Given the description of an element on the screen output the (x, y) to click on. 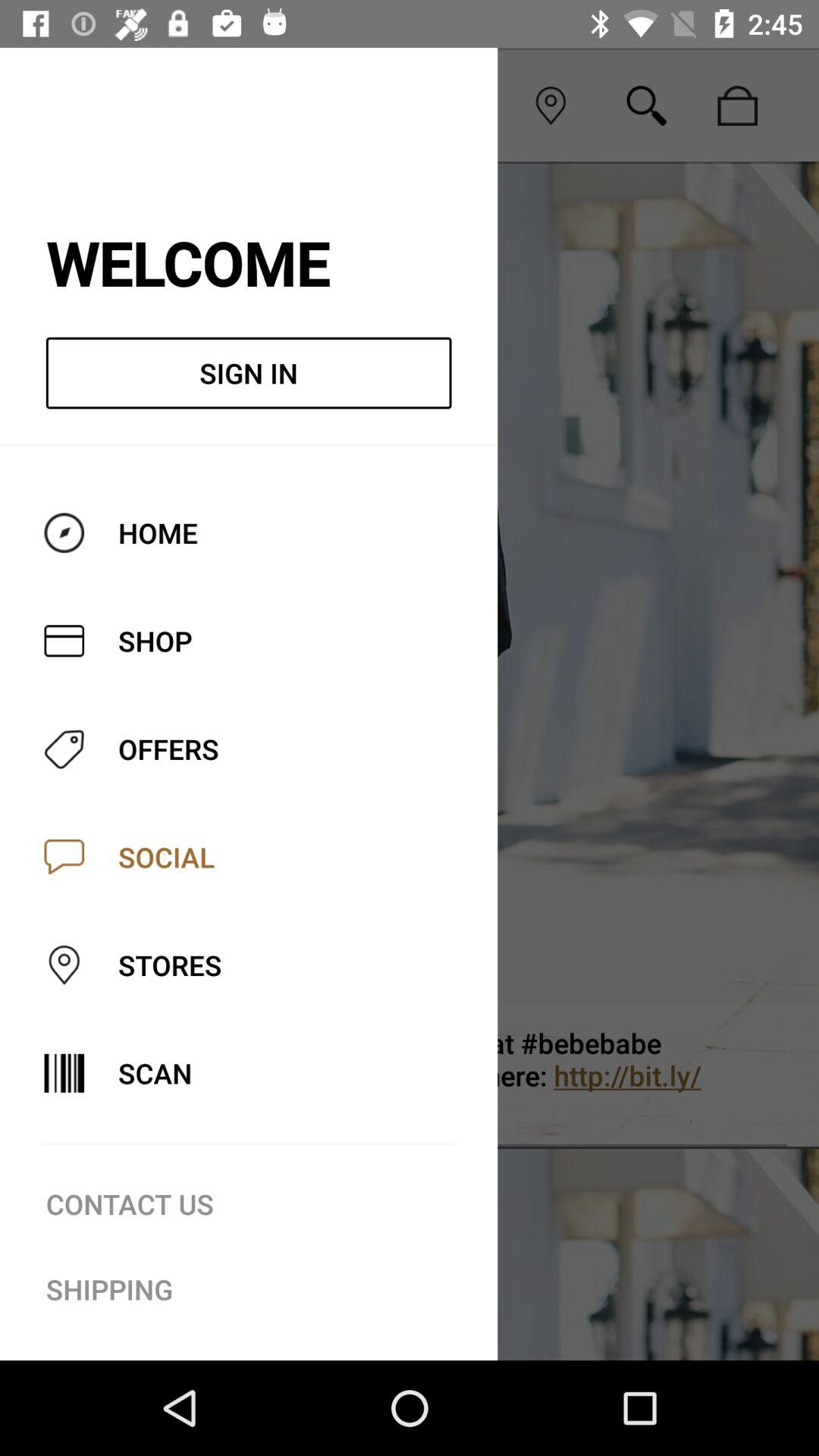
turn on icon below the welcome icon (248, 372)
